Given the description of an element on the screen output the (x, y) to click on. 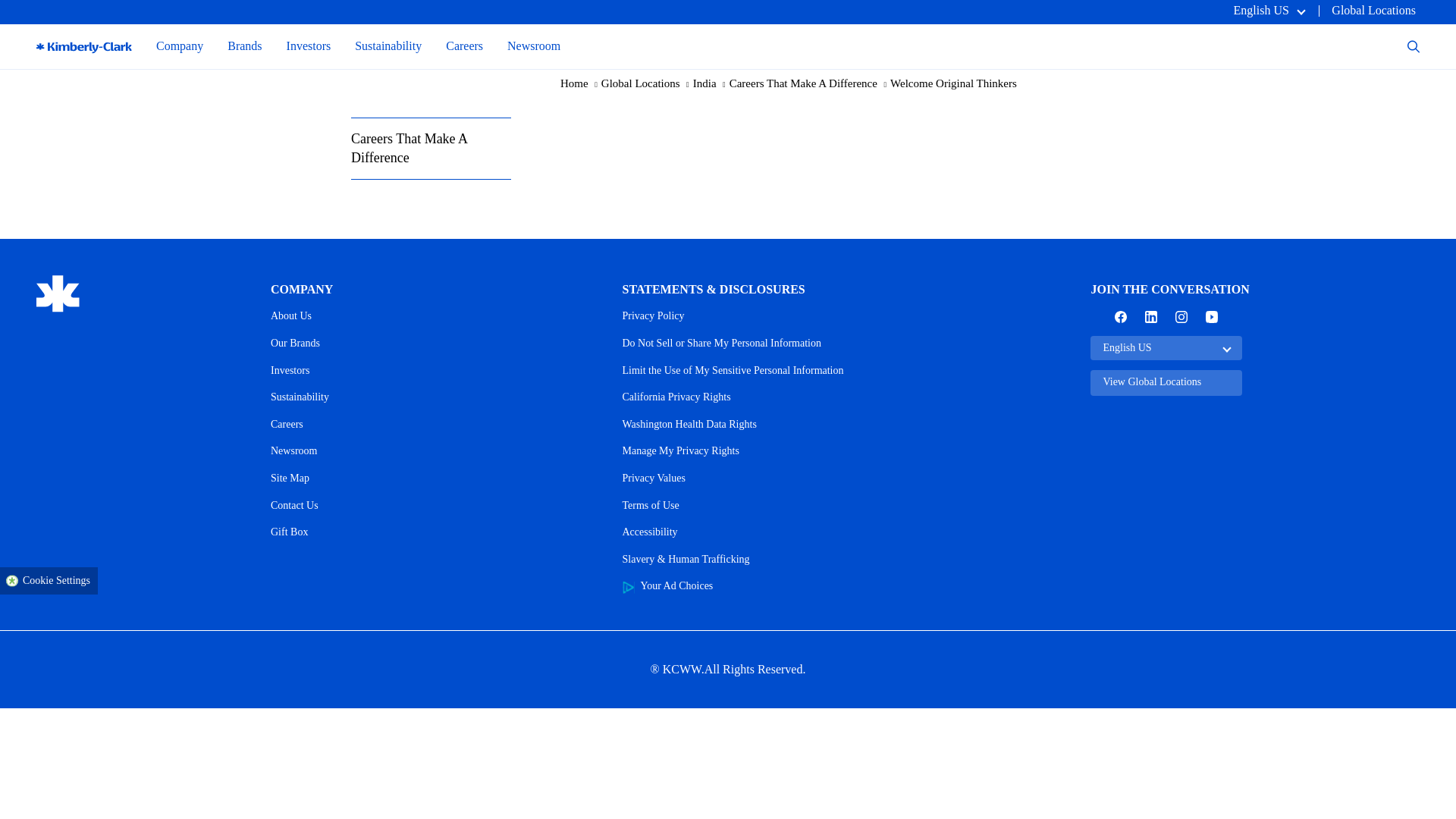
Company (179, 45)
English US (1268, 10)
Global Locations (1373, 10)
